Given the description of an element on the screen output the (x, y) to click on. 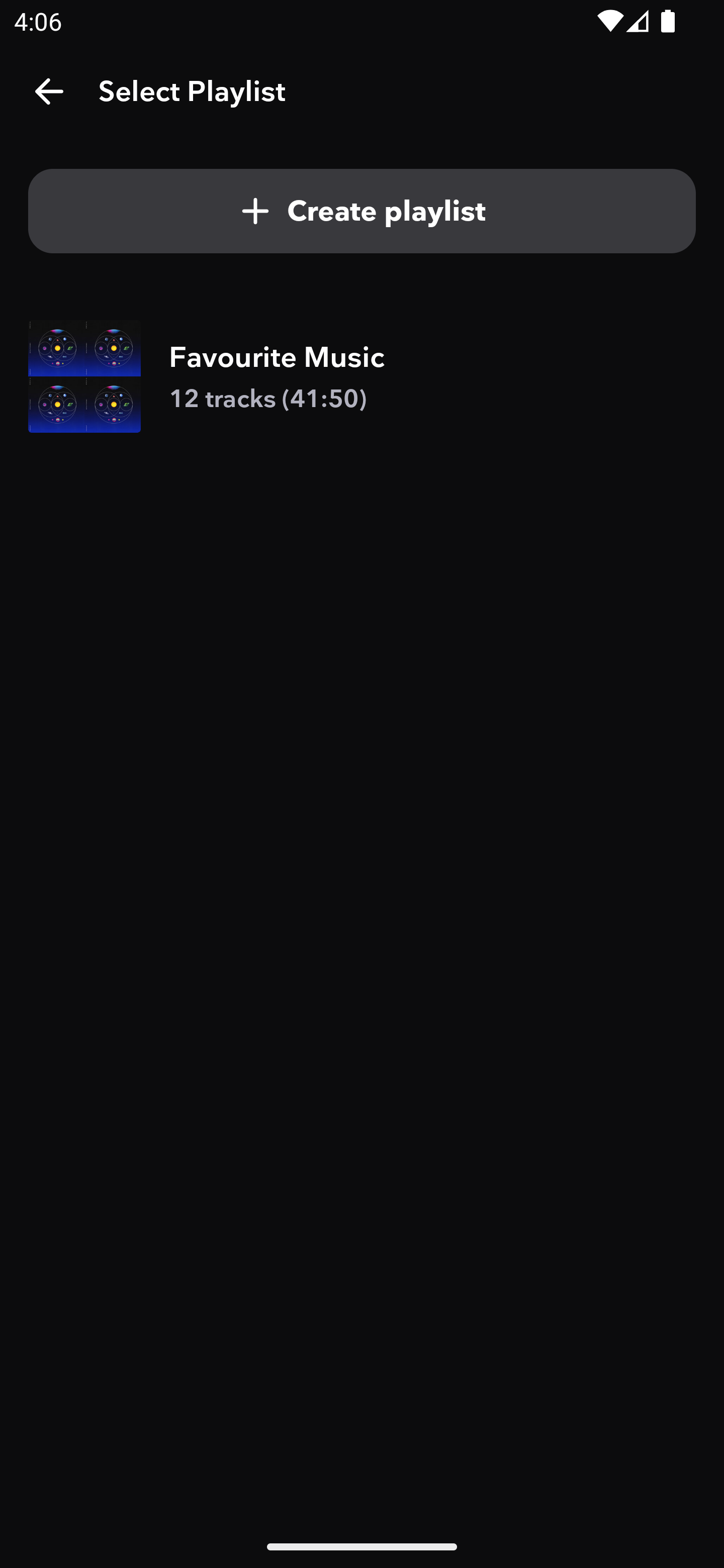
Back (49, 91)
Create playlist (361, 211)
Favourite Music 12 tracks (41:50) (362, 376)
